Given the description of an element on the screen output the (x, y) to click on. 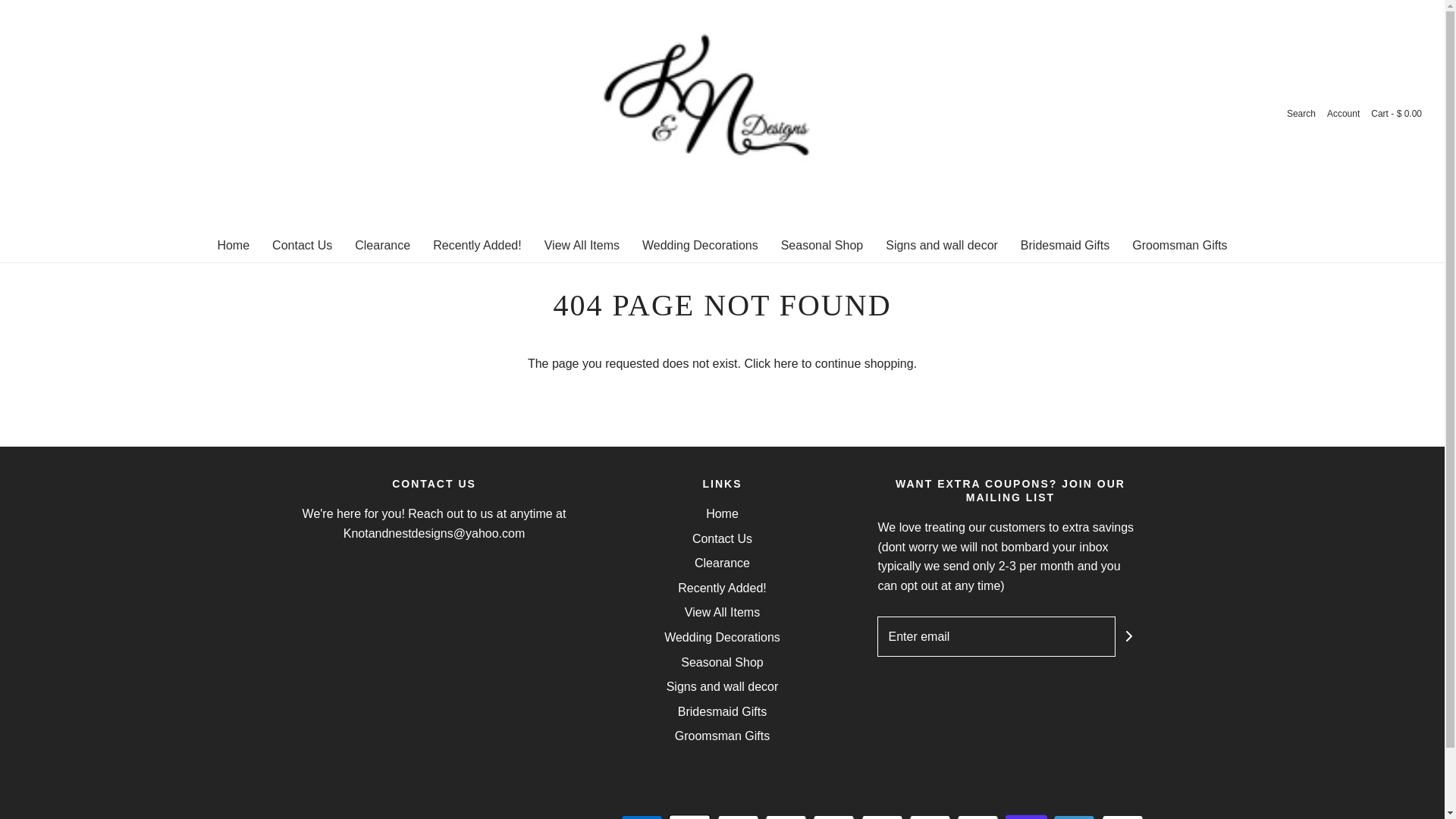
Visa (1121, 816)
Search (1301, 114)
Diners Club (737, 816)
Apple Pay (689, 816)
Search (1301, 114)
Meta Pay (833, 816)
American Express (641, 816)
PayPal (977, 816)
Mastercard (929, 816)
Google Pay (881, 816)
